Given the description of an element on the screen output the (x, y) to click on. 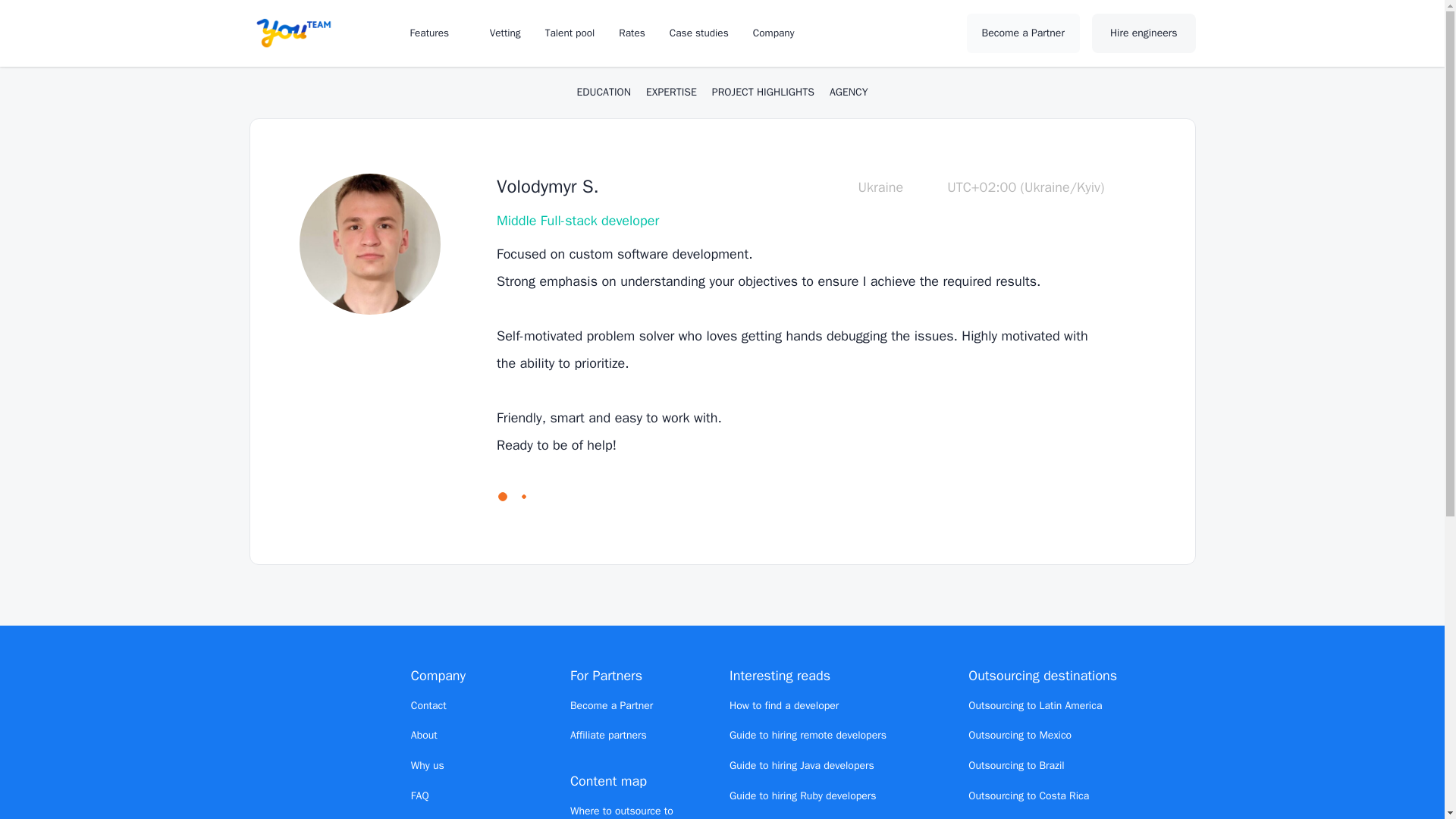
About (424, 735)
Why us (427, 765)
Features (436, 32)
Case studies (699, 32)
Company (781, 32)
Vetting (505, 32)
Guide to hiring Ruby developers (802, 795)
How to find a developer (783, 705)
FAQ (419, 795)
AGENCY (848, 92)
